Given the description of an element on the screen output the (x, y) to click on. 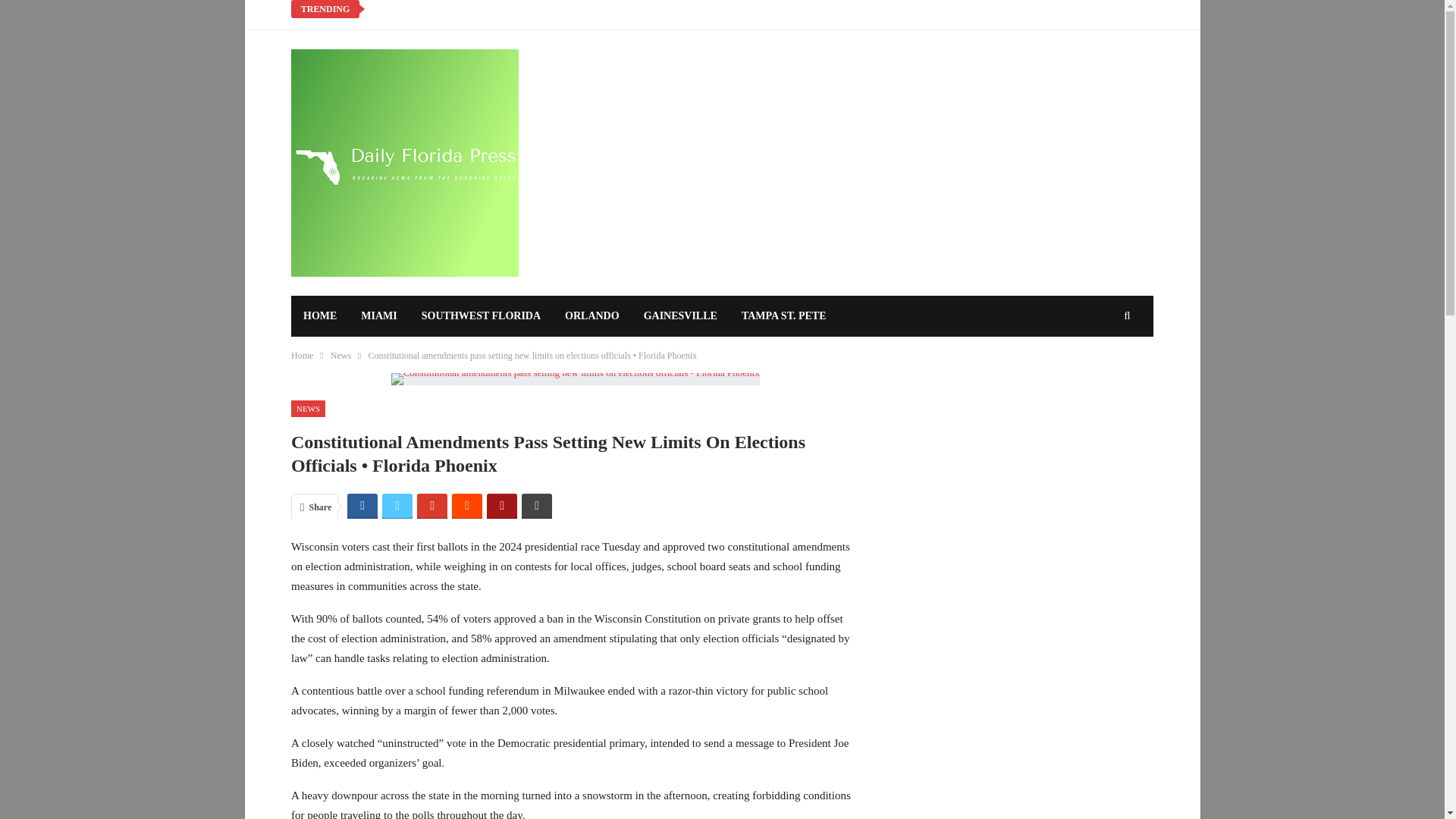
GAINESVILLE (680, 315)
NEWS (307, 408)
TAMPA ST. PETE (783, 315)
MIAMI (379, 315)
HOME (320, 315)
ORLANDO (592, 315)
News (340, 355)
Home (302, 355)
SOUTHWEST FLORIDA (481, 315)
